Given the description of an element on the screen output the (x, y) to click on. 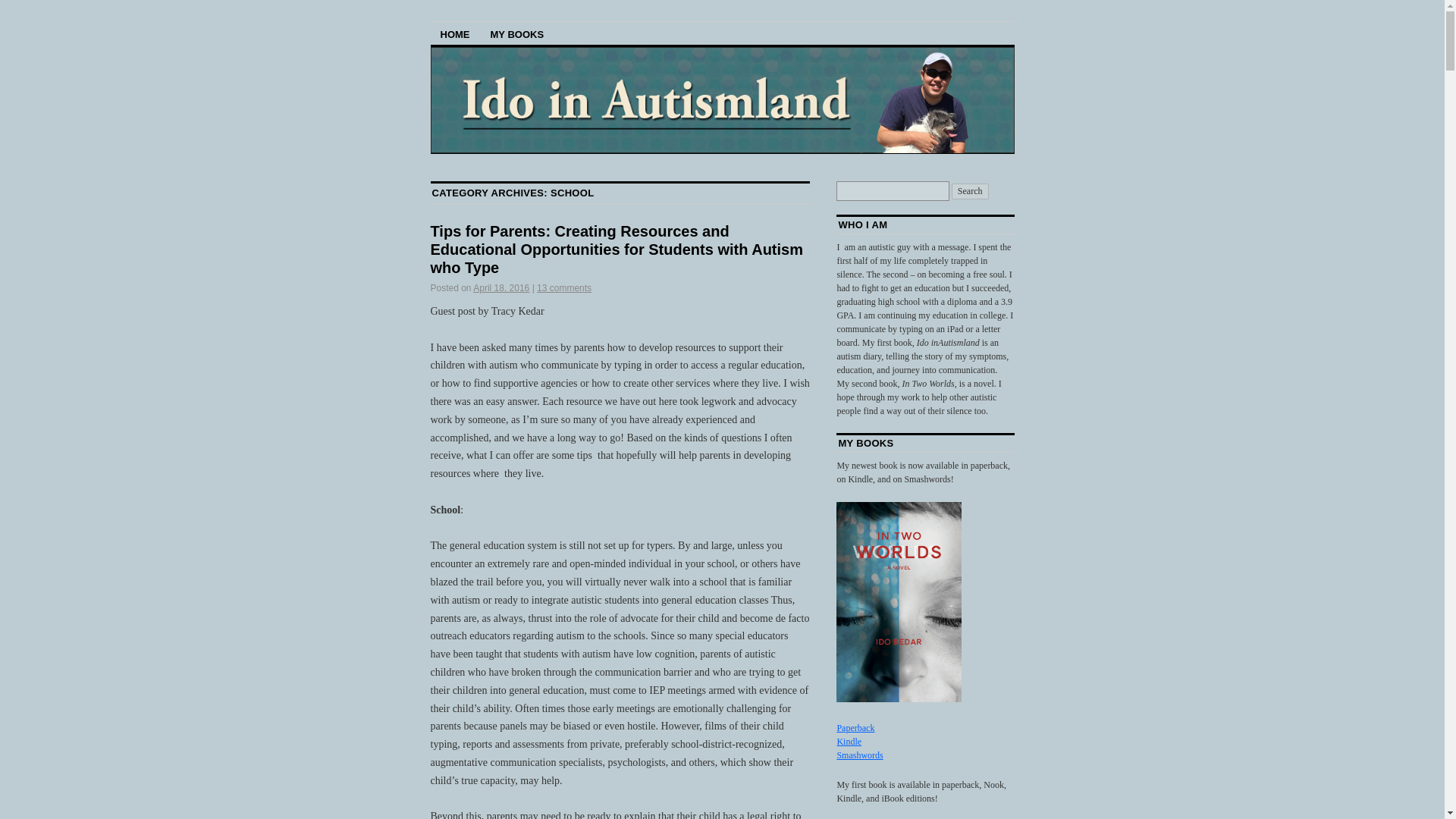
Search (970, 191)
April 18, 2016 (501, 287)
MY BOOKS (517, 33)
13 comments (564, 287)
11:01 pm (501, 287)
HOME (455, 33)
